Given the description of an element on the screen output the (x, y) to click on. 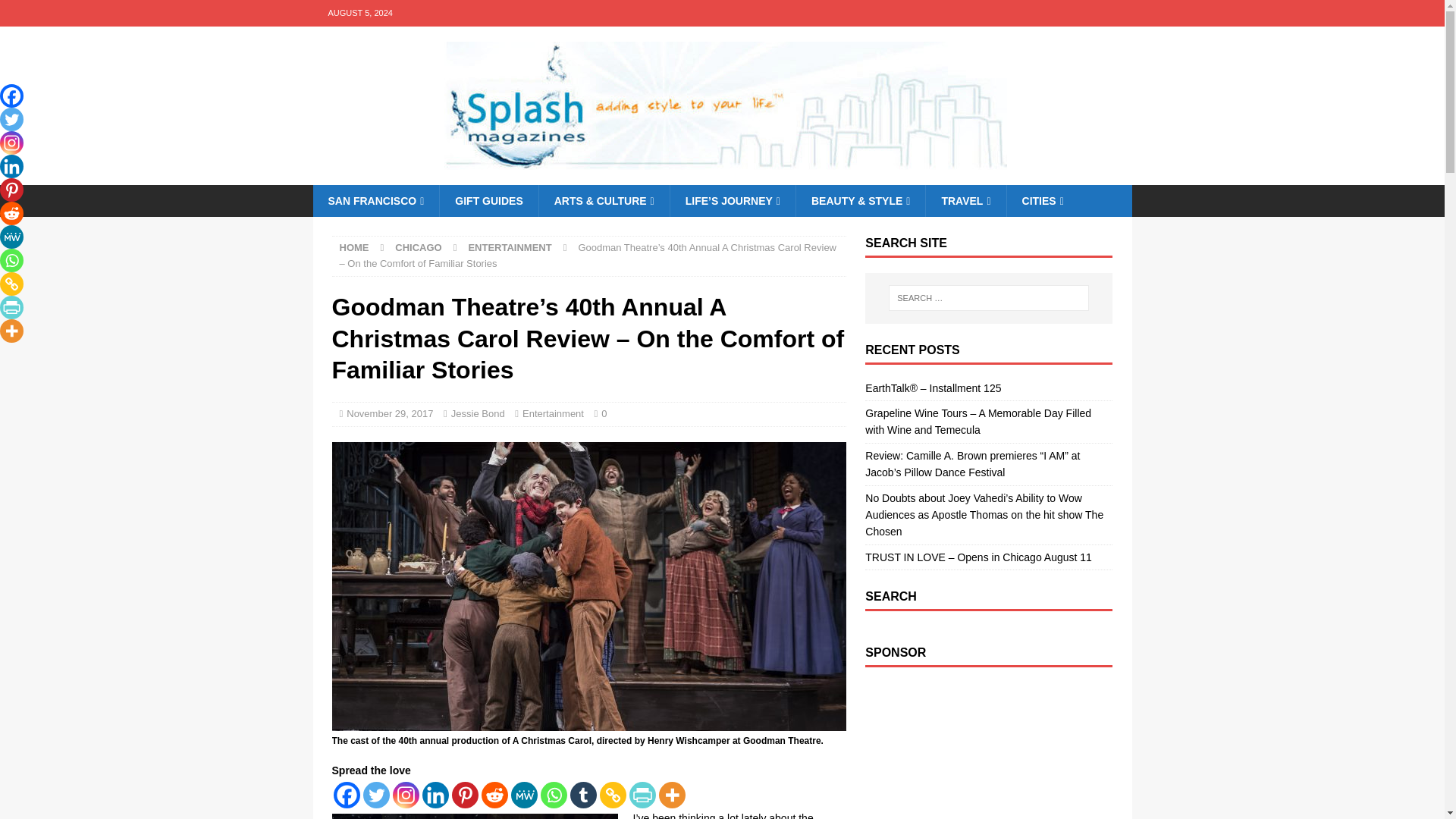
Tumblr (583, 795)
Whatsapp (553, 795)
Twitter (375, 795)
MeWe (524, 795)
Facebook (346, 795)
Instagram (406, 795)
TRAVEL (965, 201)
Pinterest (465, 795)
More (671, 795)
GIFT GUIDES (488, 201)
